Given the description of an element on the screen output the (x, y) to click on. 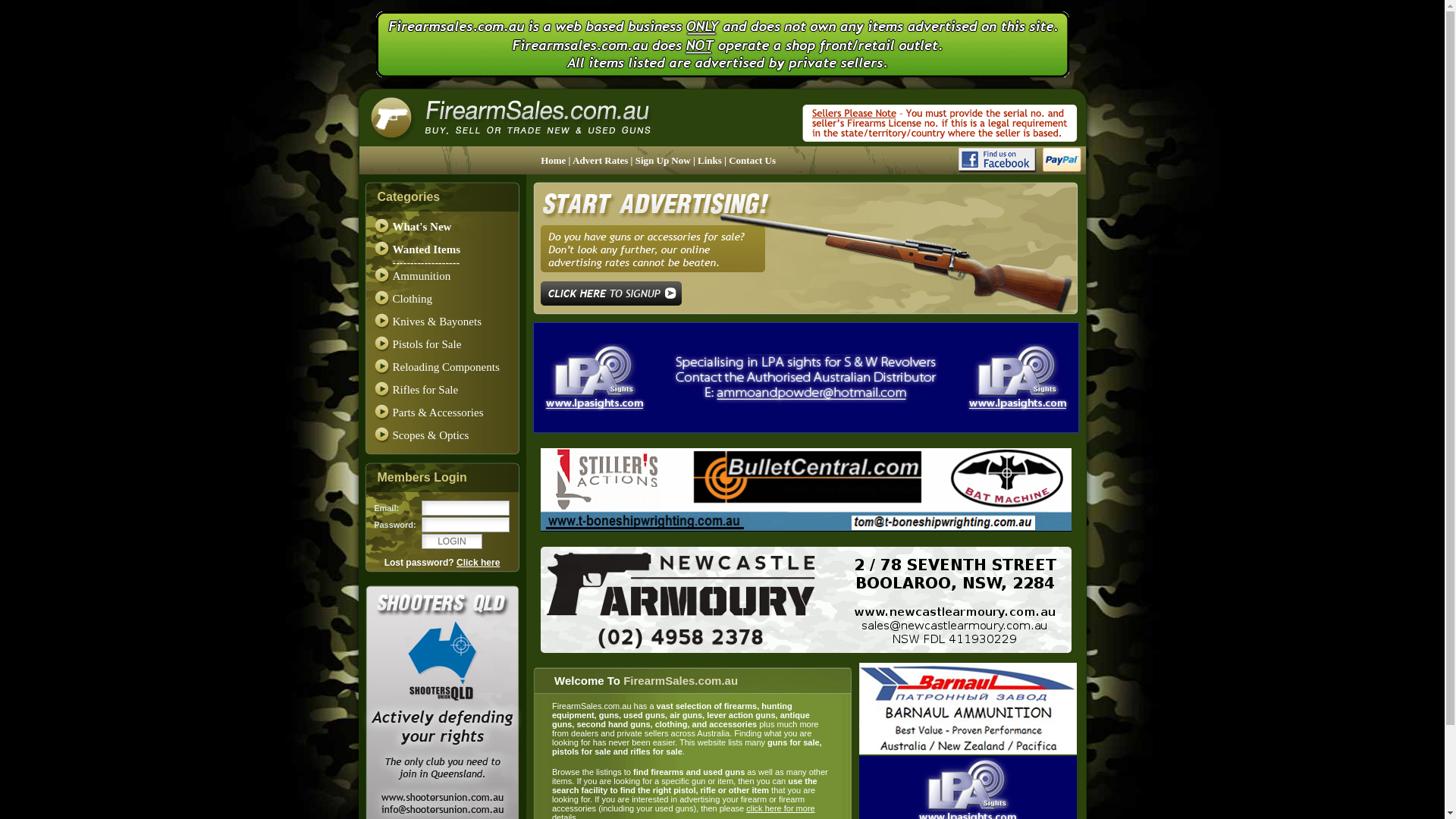
Links Element type: text (710, 160)
Rifles for Sale Element type: text (425, 389)
Click here Element type: text (477, 562)
Ammunition Element type: text (421, 275)
Pistols for Sale Element type: text (426, 344)
Sign Up Now Element type: text (664, 160)
Reloading Components Element type: text (445, 366)
Parts & Accessories Element type: text (437, 412)
Home Element type: text (553, 160)
Advert Rates Element type: text (601, 160)
Knives & Bayonets Element type: text (437, 321)
Wanted Items Element type: text (426, 249)
Scopes & Optics Element type: text (430, 435)
Contact Us Element type: text (751, 160)
  LOGIN   Element type: text (451, 541)
Clothing Element type: text (412, 298)
What's New Element type: text (421, 226)
